Given the description of an element on the screen output the (x, y) to click on. 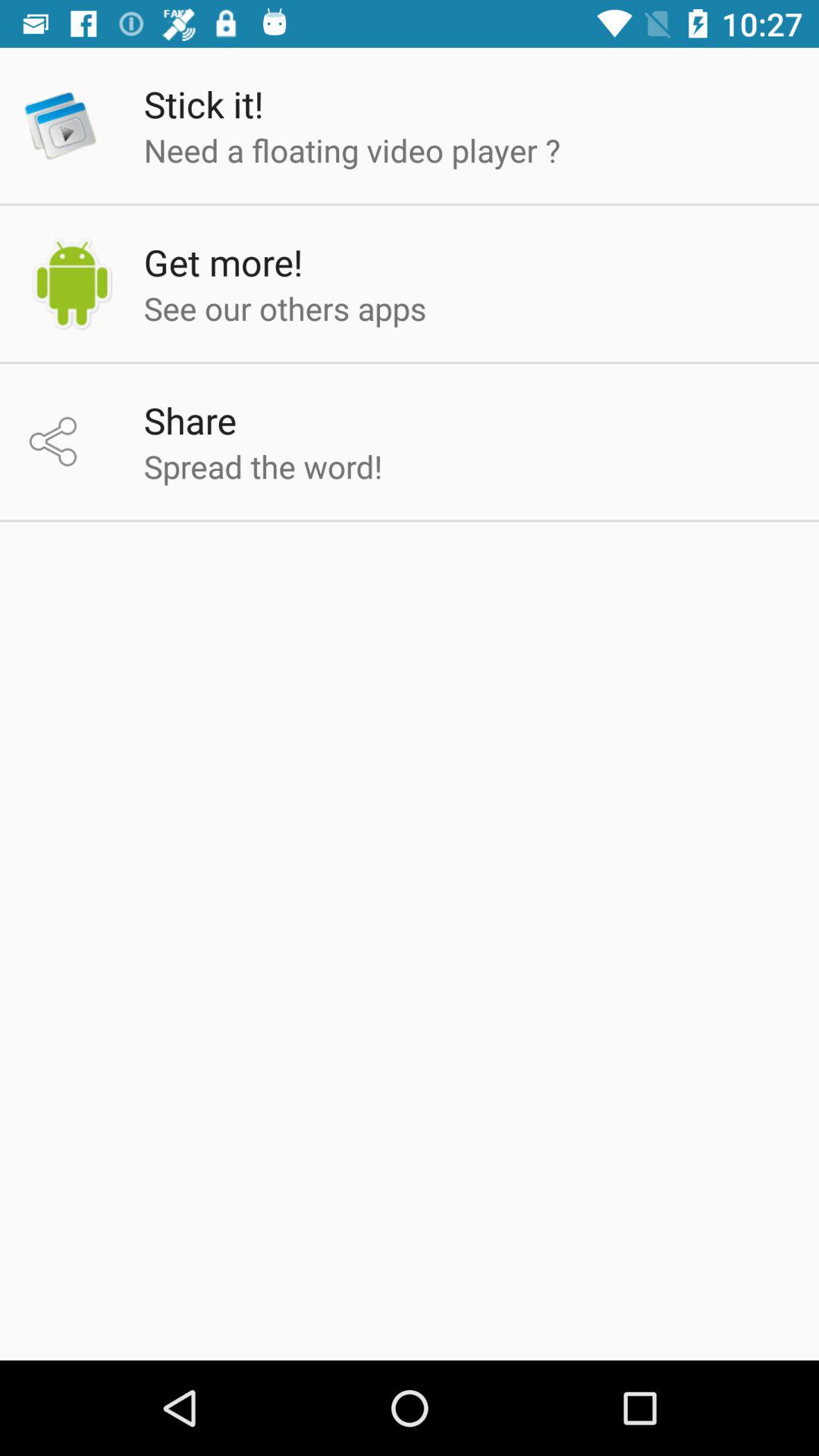
turn off the icon above the see our others icon (222, 261)
